Given the description of an element on the screen output the (x, y) to click on. 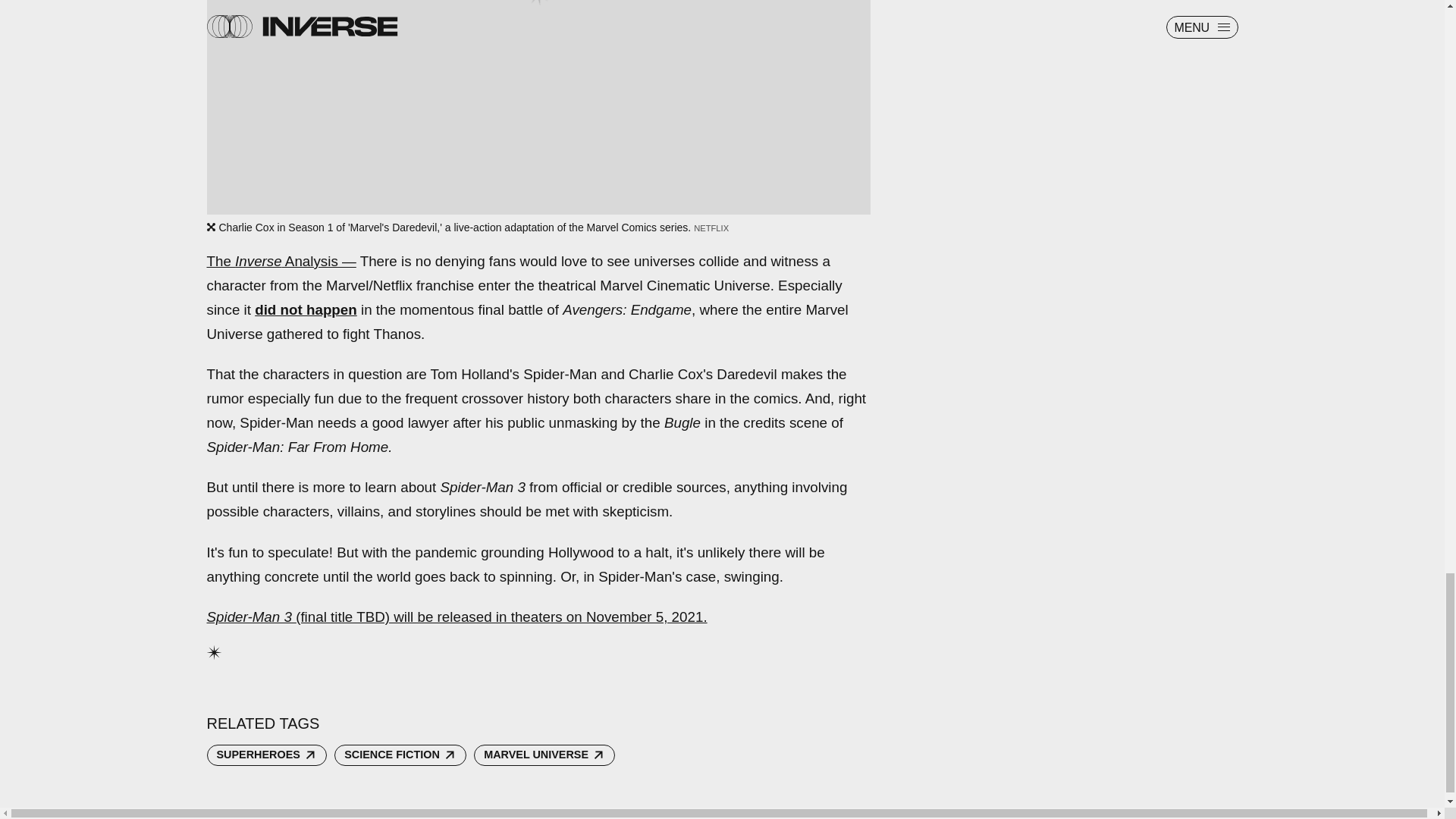
MARVEL UNIVERSE (544, 754)
SCIENCE FICTION (399, 754)
SUPERHEROES (266, 754)
did not happen (305, 309)
